Given the description of an element on the screen output the (x, y) to click on. 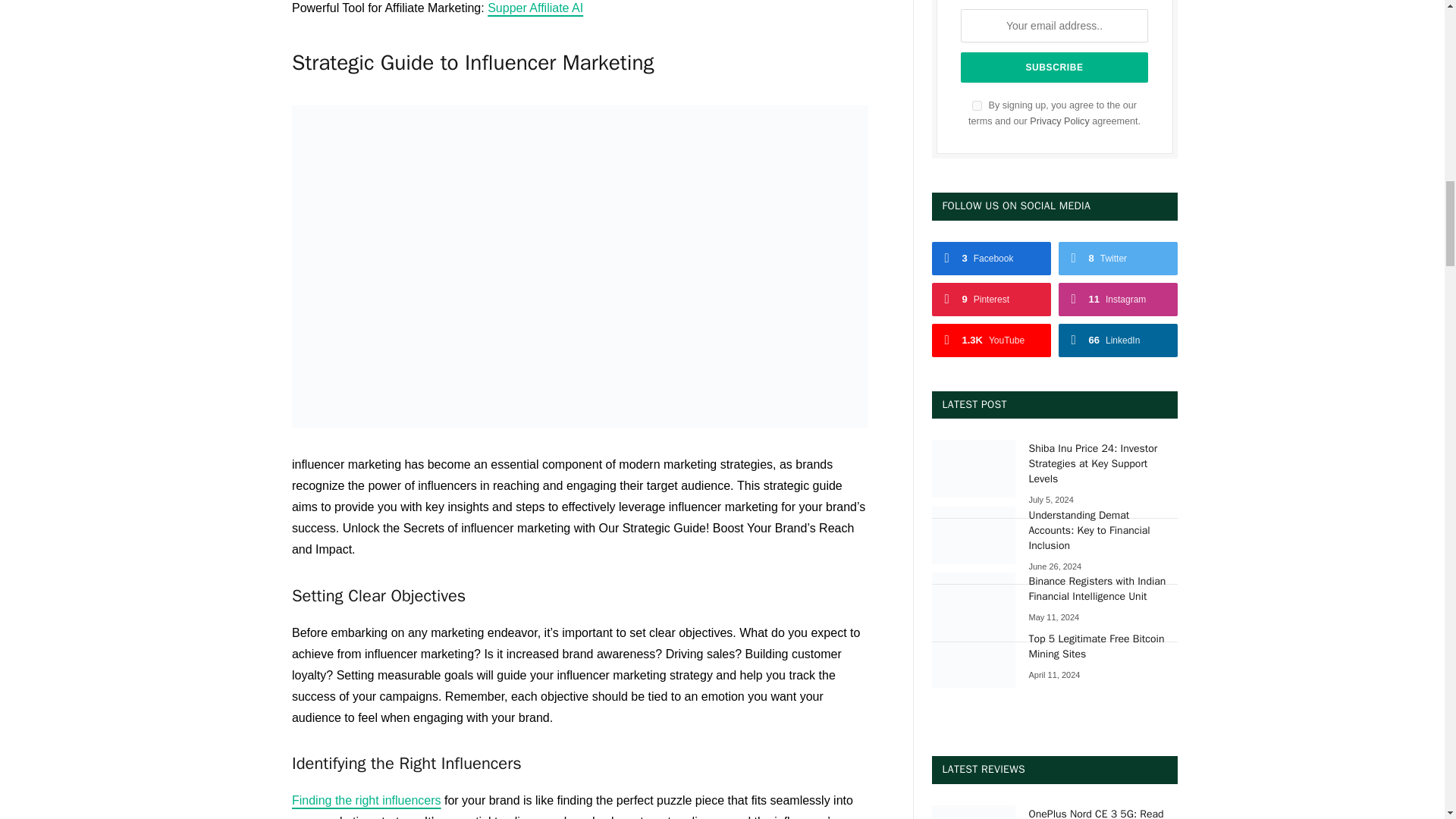
on (976, 105)
Subscribe (1053, 67)
